Given the description of an element on the screen output the (x, y) to click on. 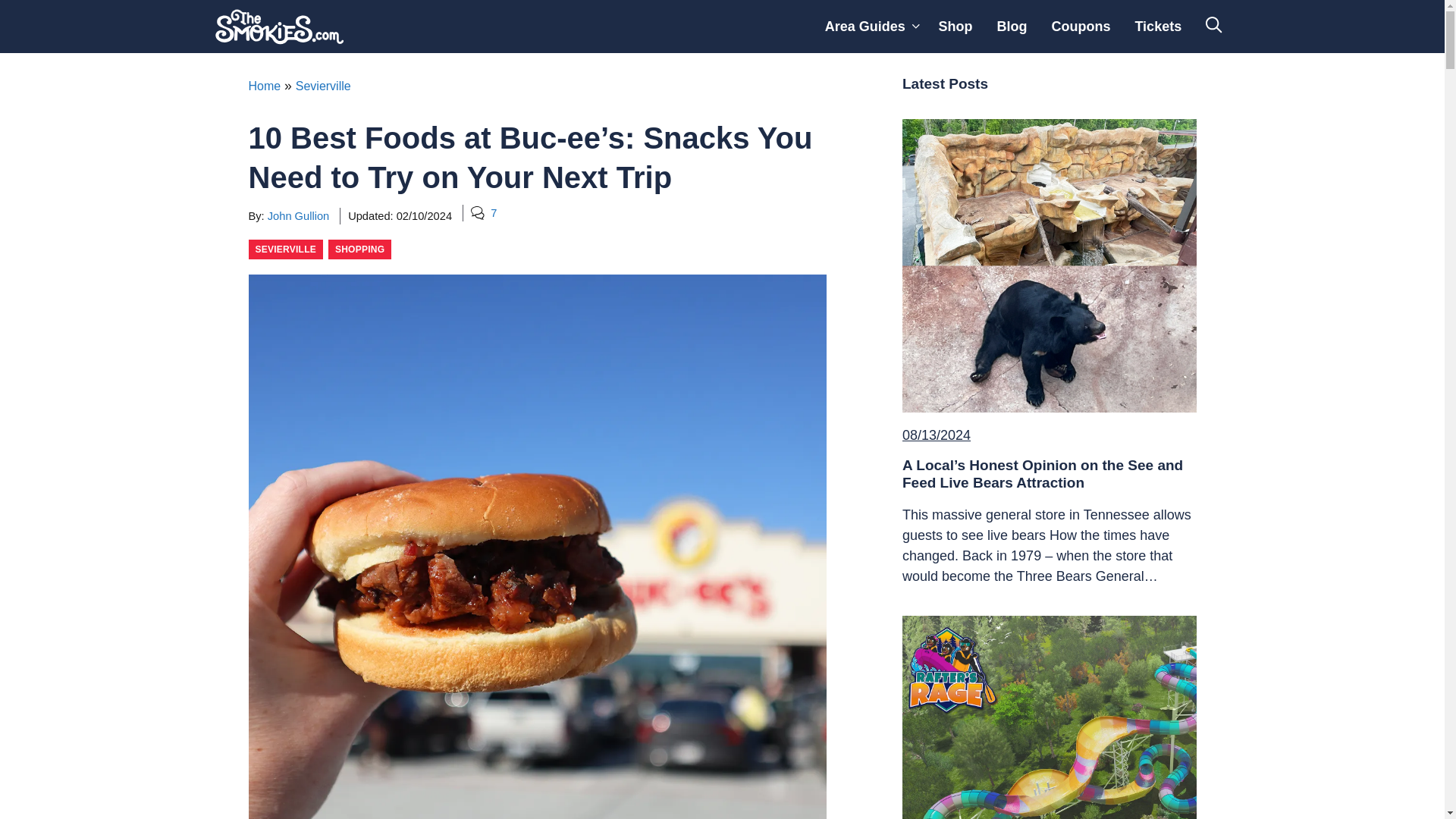
Tickets (1157, 26)
SEVIERVILLE (285, 249)
Blog (1011, 26)
TheSmokies.com (279, 26)
SHOPPING (360, 249)
Shop (955, 26)
John Gullion (298, 215)
Area Guides (869, 26)
Sevierville (322, 85)
Coupons (1080, 26)
